Given the description of an element on the screen output the (x, y) to click on. 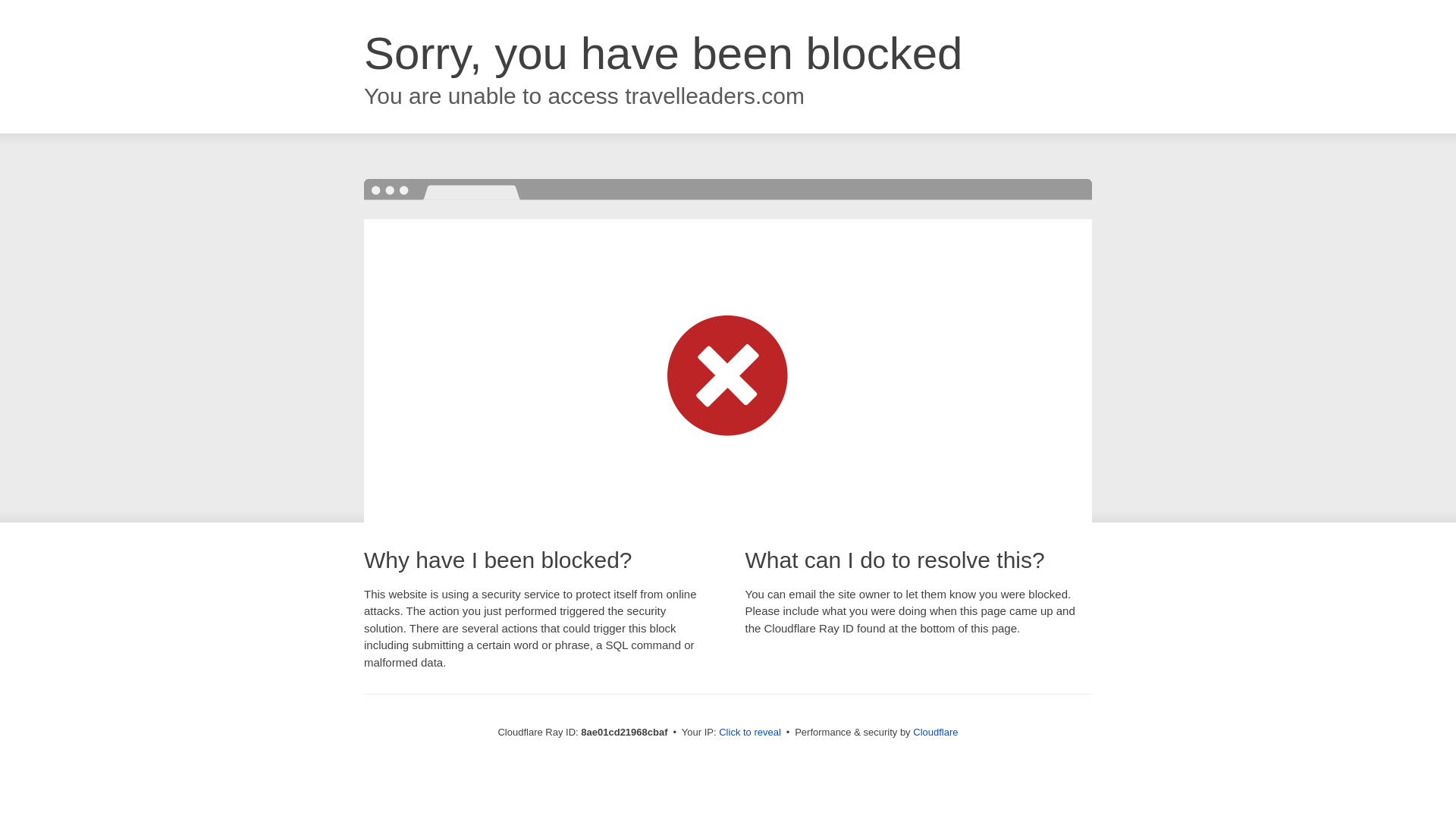
Cloudflare (935, 731)
Click to reveal (749, 732)
